Given the description of an element on the screen output the (x, y) to click on. 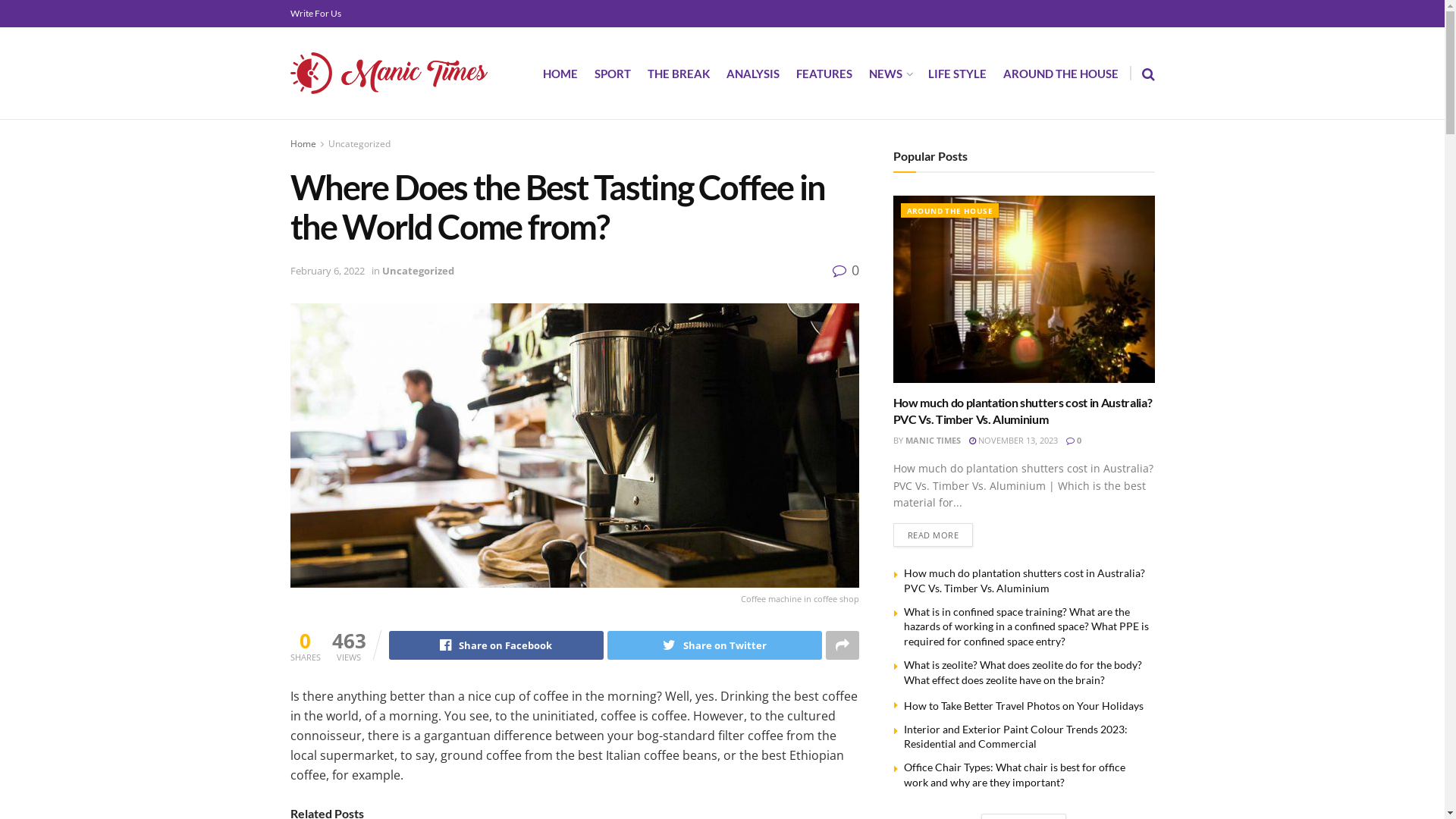
Uncategorized Element type: text (358, 143)
February 6, 2022 Element type: text (326, 270)
Share on Facebook Element type: text (495, 644)
FEATURES Element type: text (824, 73)
0 Element type: text (1073, 439)
Write For Us Element type: text (314, 13)
AROUND THE HOUSE Element type: text (949, 210)
Coffee machine in coffee shop Element type: text (573, 455)
Home Element type: text (302, 143)
Share on Twitter Element type: text (713, 644)
How to Take Better Travel Photos on Your Holidays Element type: text (1023, 705)
SPORT Element type: text (612, 73)
ANALYSIS Element type: text (752, 73)
HOME Element type: text (559, 73)
MANIC TIMES Element type: text (932, 439)
0 Element type: text (845, 269)
NEWS Element type: text (890, 73)
Uncategorized Element type: text (418, 270)
LIFE STYLE Element type: text (957, 73)
READ MORE Element type: text (933, 535)
AROUND THE HOUSE Element type: text (1059, 73)
THE BREAK Element type: text (678, 73)
Where Does the Best Tasting Coffee in the World Come from? Element type: hover (573, 445)
NOVEMBER 13, 2023 Element type: text (1013, 439)
